Given the description of an element on the screen output the (x, y) to click on. 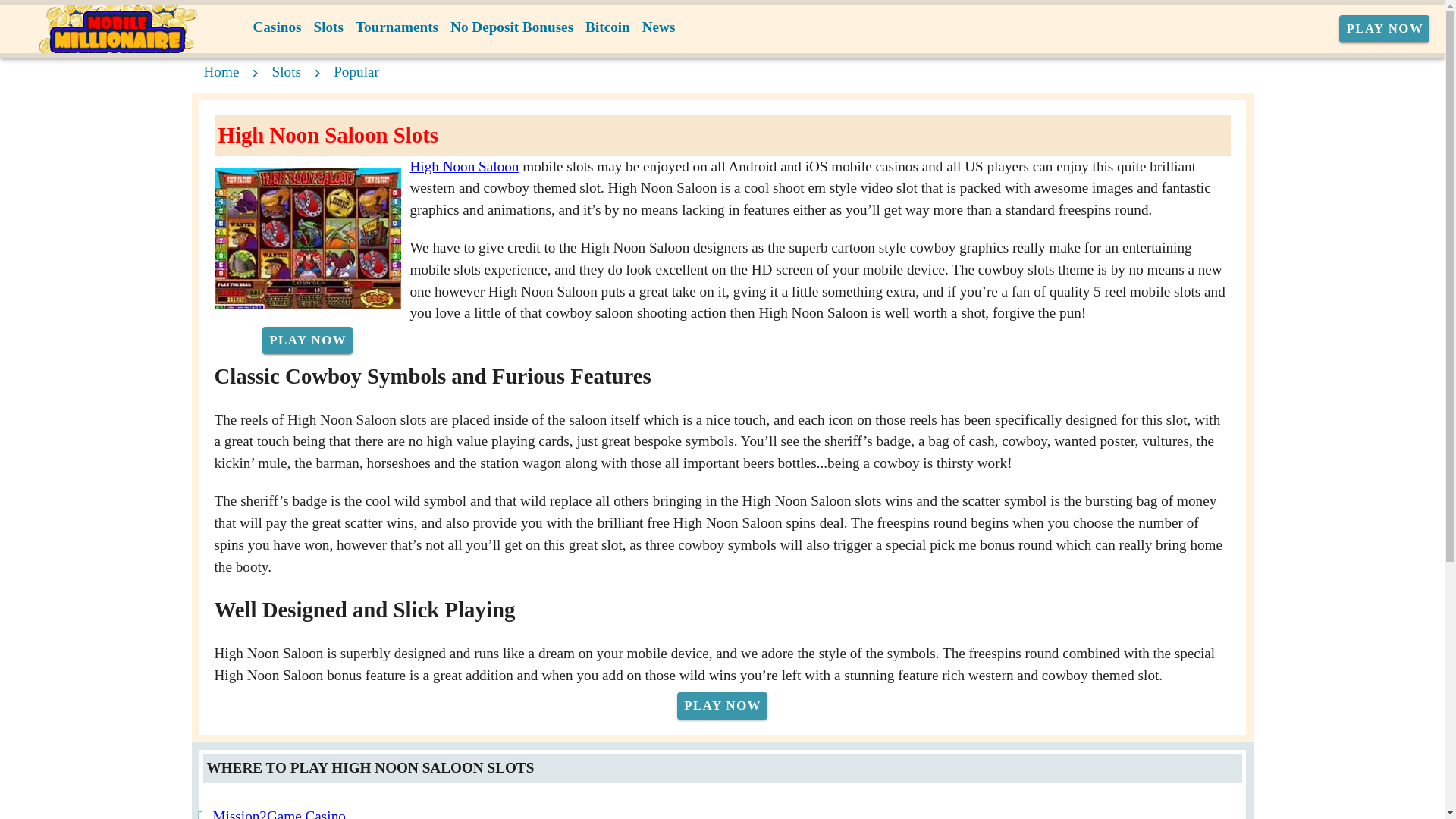
PLAY NOW (307, 339)
PLAY NOW (1384, 28)
PLAY NOW (722, 705)
Home (220, 71)
Slots (328, 27)
Slots (286, 71)
No Deposit Bonuses (511, 27)
News (658, 27)
Popular (355, 71)
High Noon Saloon (463, 166)
Mission2Game Casino (278, 813)
Casinos (277, 27)
Tournaments (396, 27)
Bitcoin (607, 27)
